Given the description of an element on the screen output the (x, y) to click on. 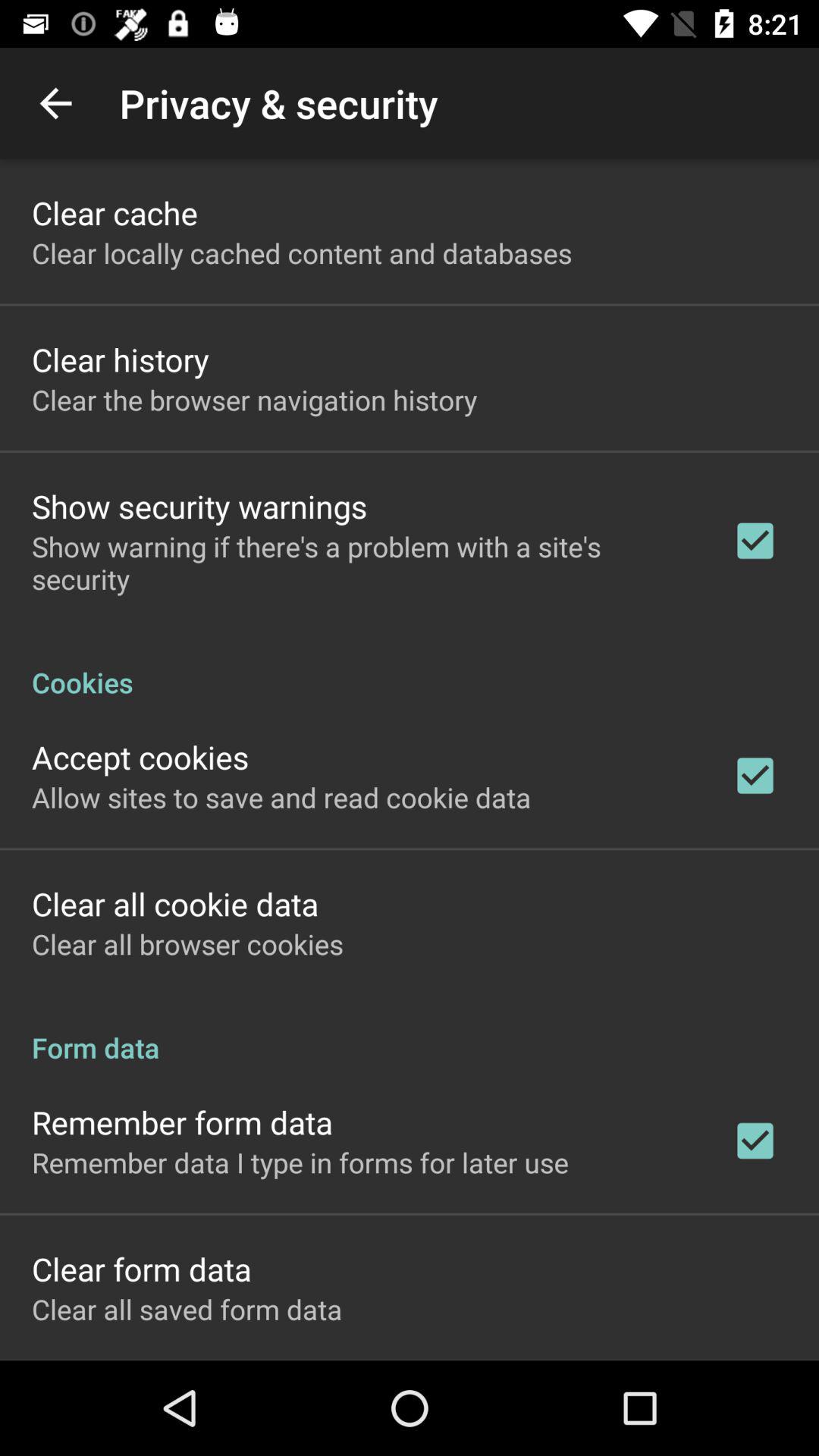
turn off icon above clear history (301, 252)
